Given the description of an element on the screen output the (x, y) to click on. 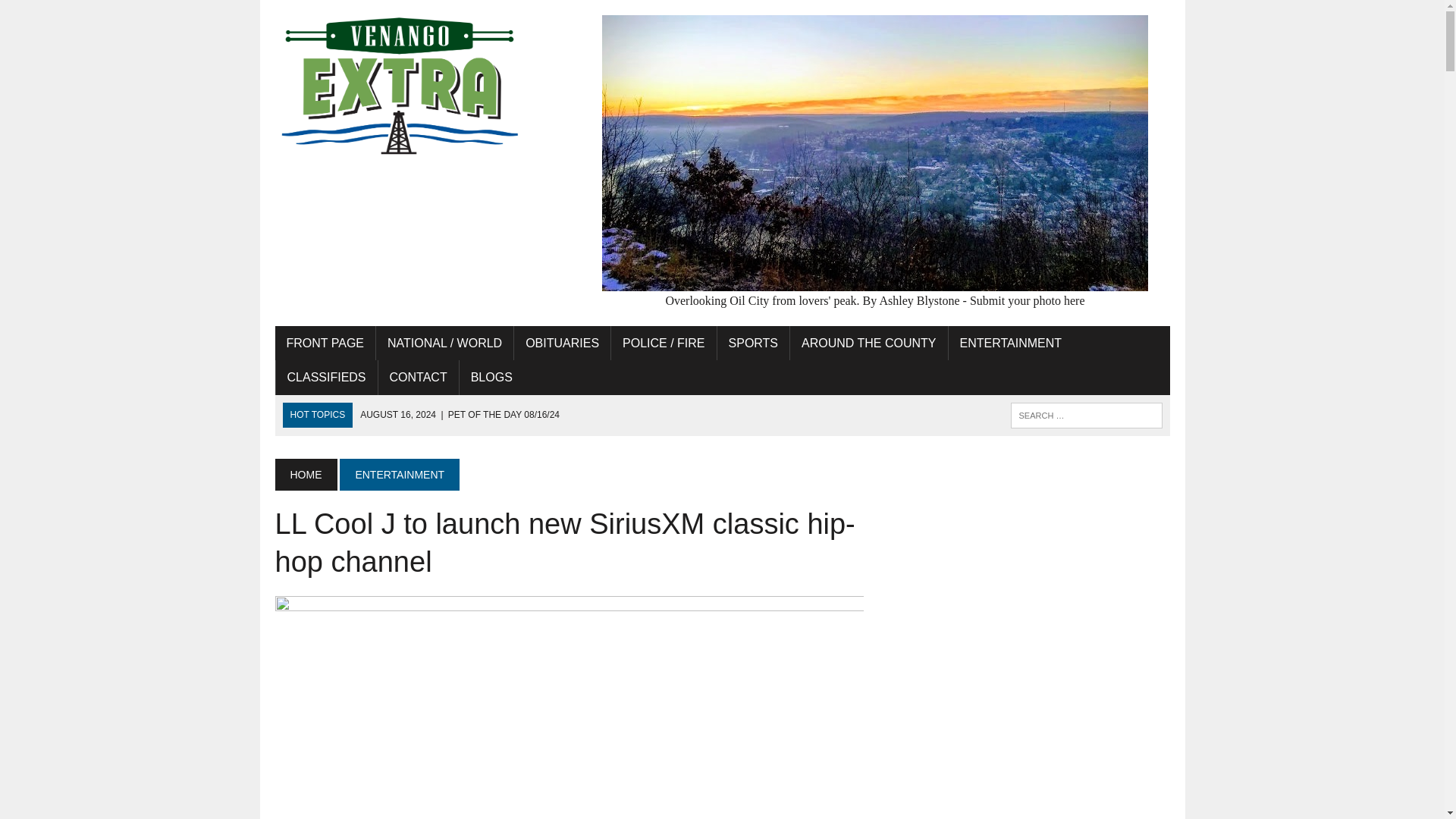
SPORTS (753, 343)
OBITUARIES (561, 343)
FRONT PAGE (325, 343)
AROUND THE COUNTY (868, 343)
ENTERTAINMENT (1011, 343)
CLASSIFIEDS (326, 377)
Venango Extra.com (416, 86)
